Given the description of an element on the screen output the (x, y) to click on. 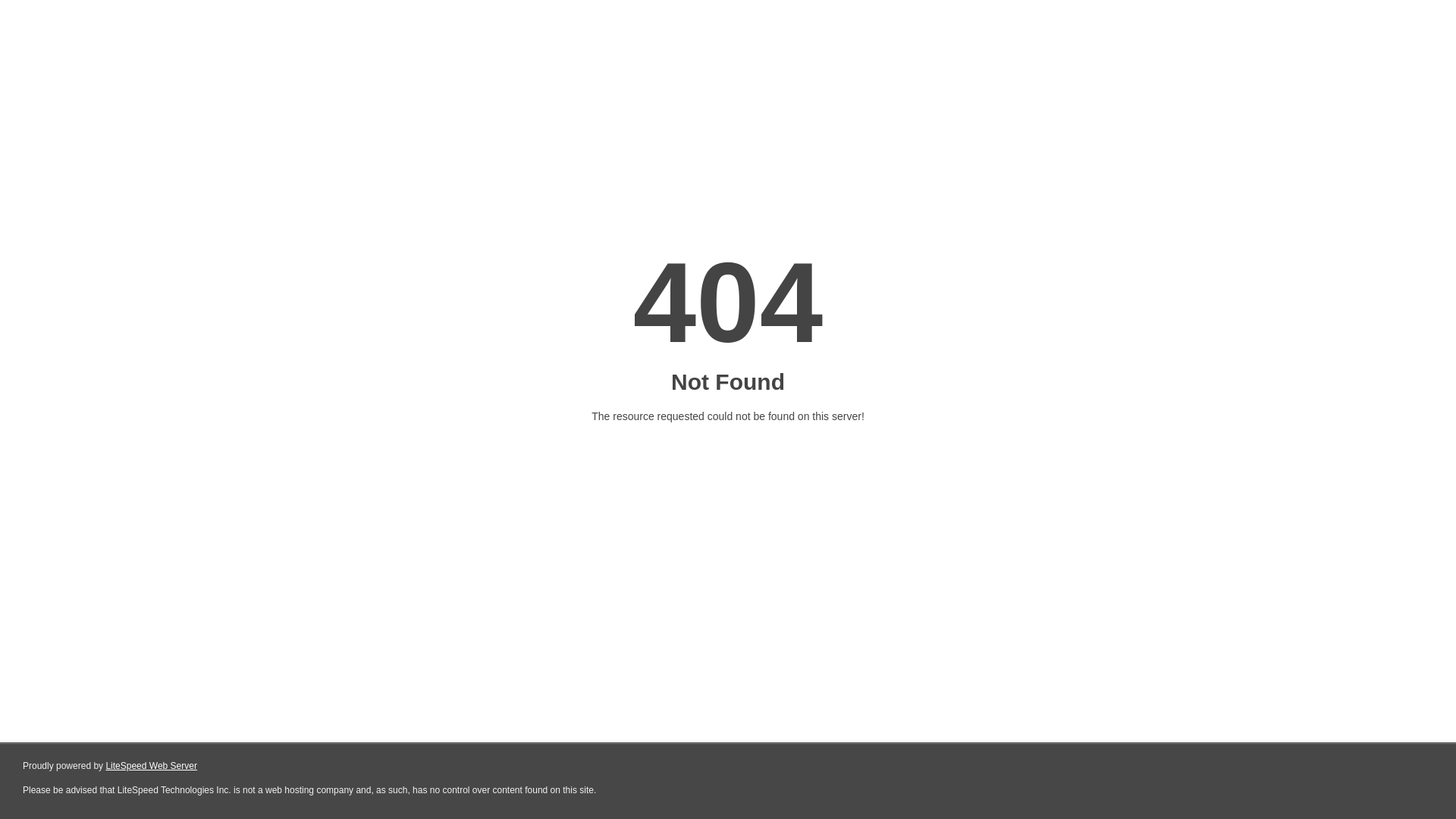
LiteSpeed Web Server Element type: text (151, 765)
